Given the description of an element on the screen output the (x, y) to click on. 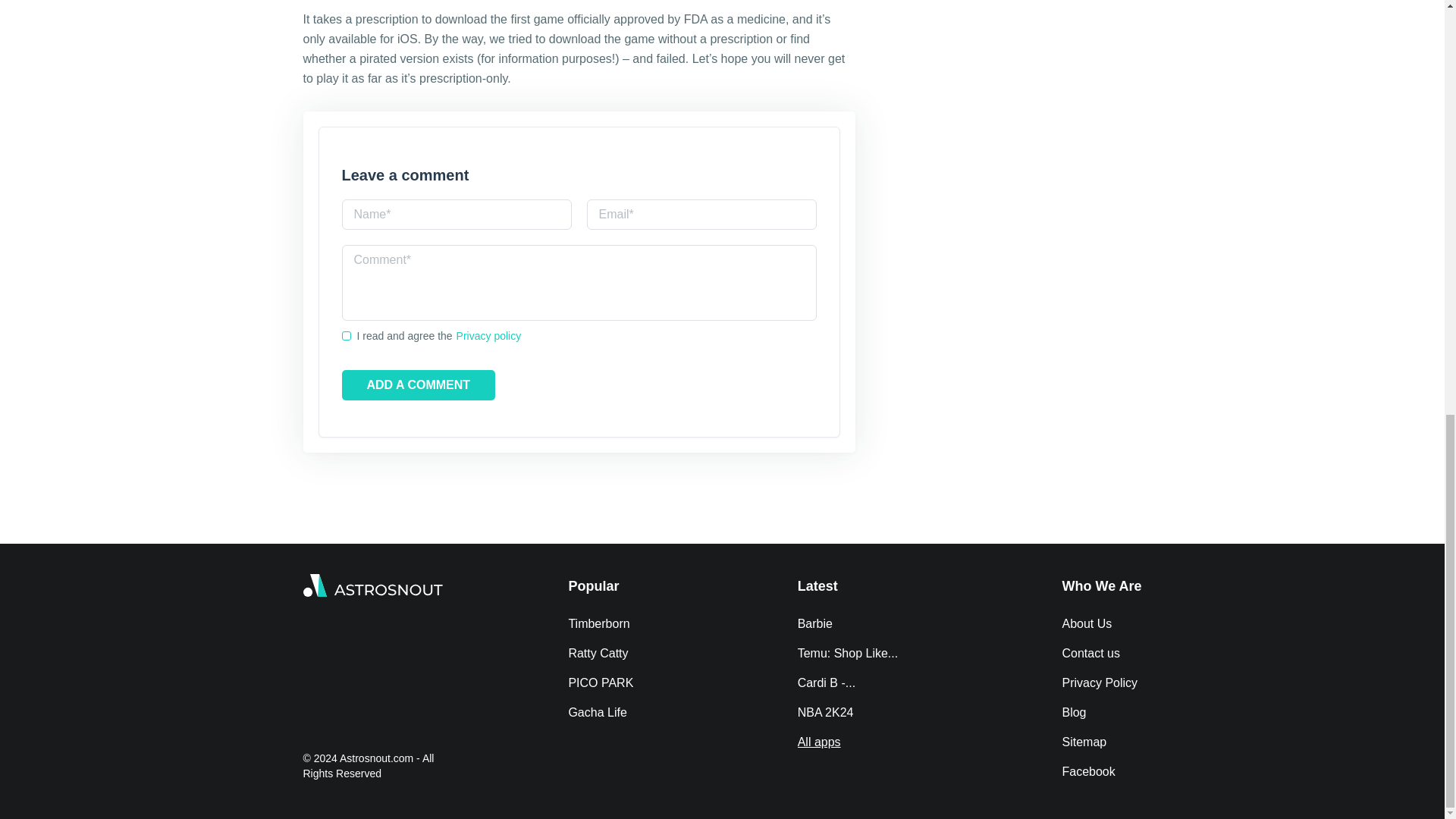
Privacy policy (489, 335)
ADD A COMMENT (417, 385)
